Given the description of an element on the screen output the (x, y) to click on. 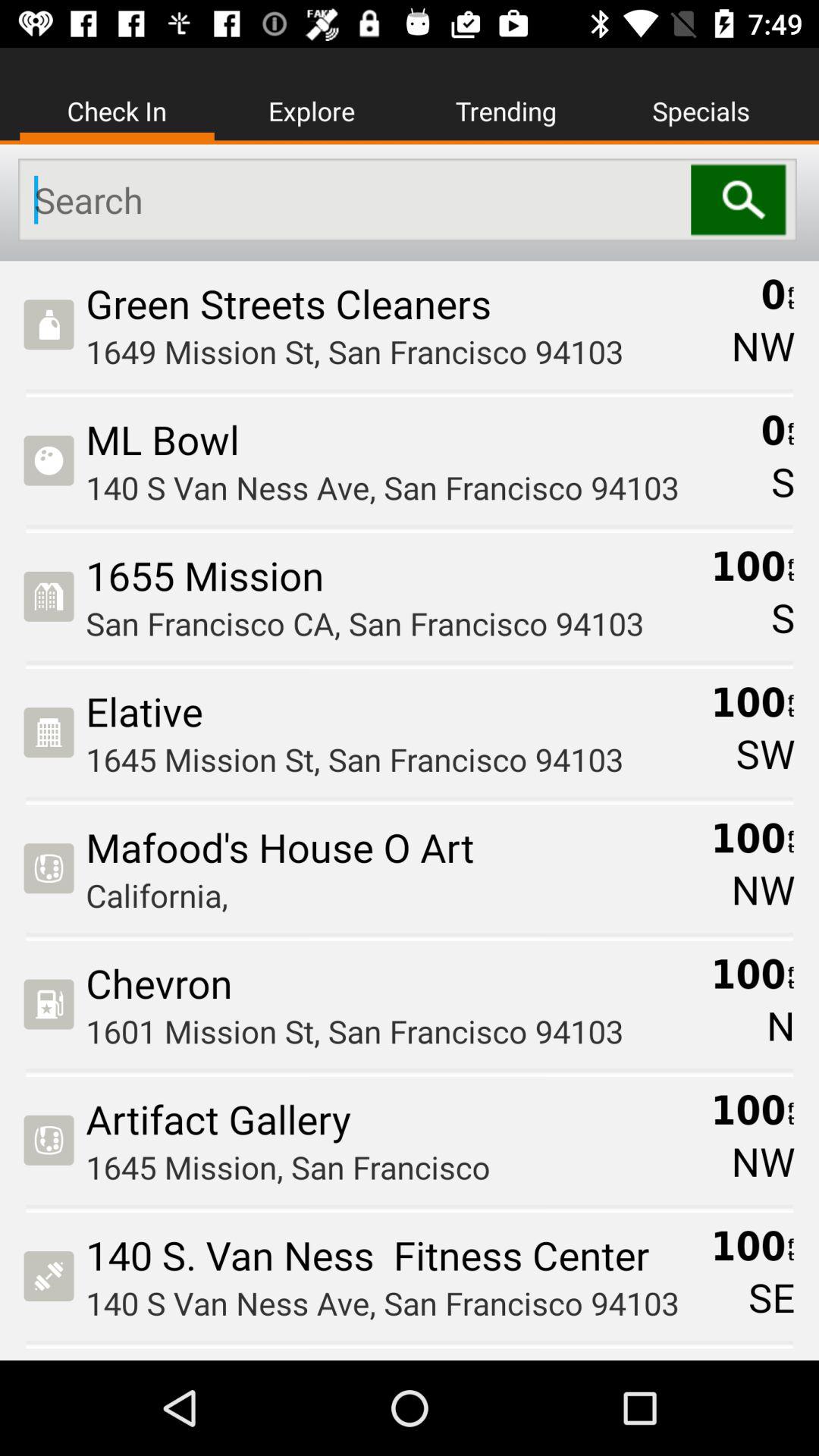
select the icon below the mafood s house item (392, 894)
